Given the description of an element on the screen output the (x, y) to click on. 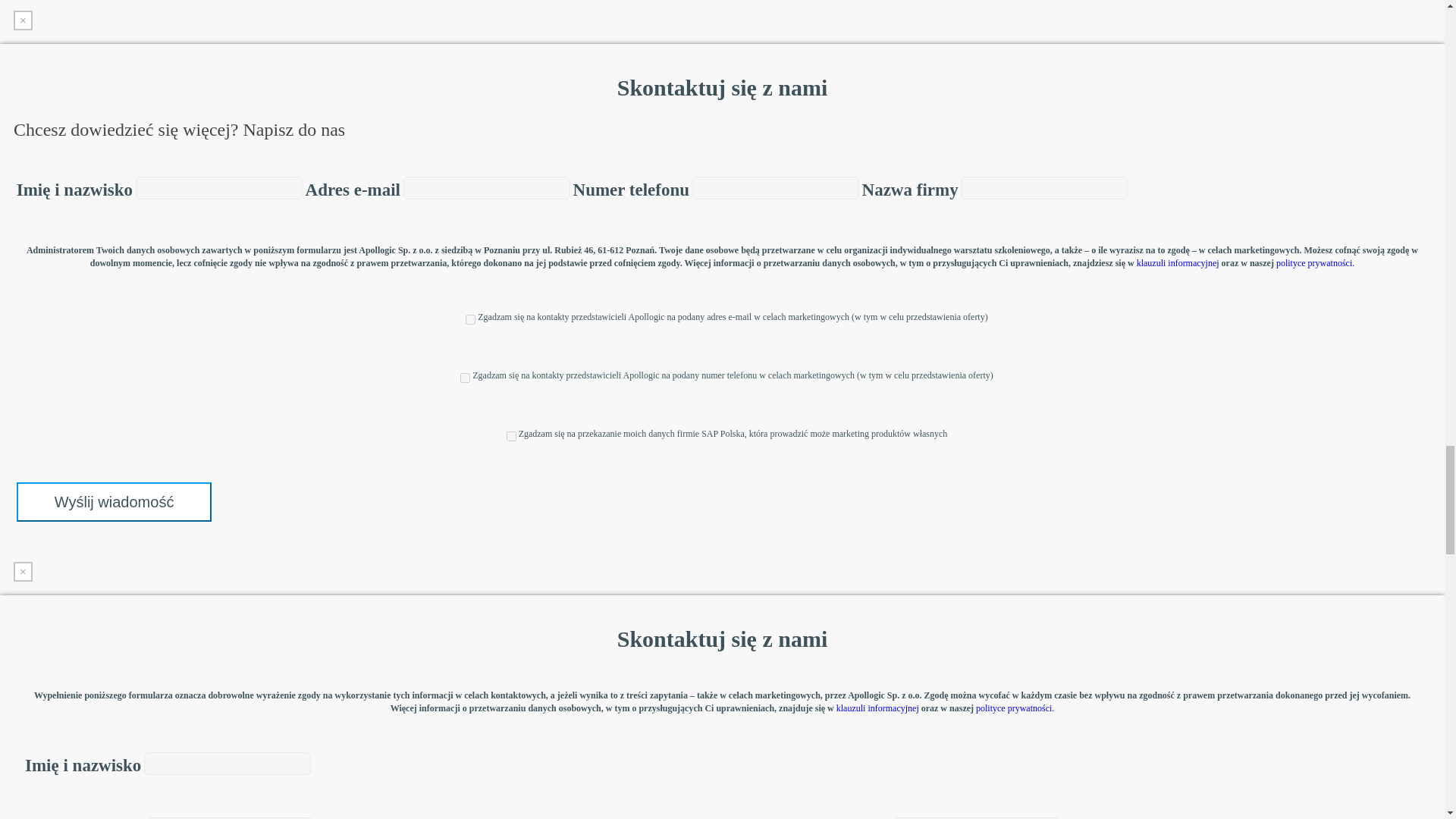
1 (470, 319)
1 (465, 378)
